Given the description of an element on the screen output the (x, y) to click on. 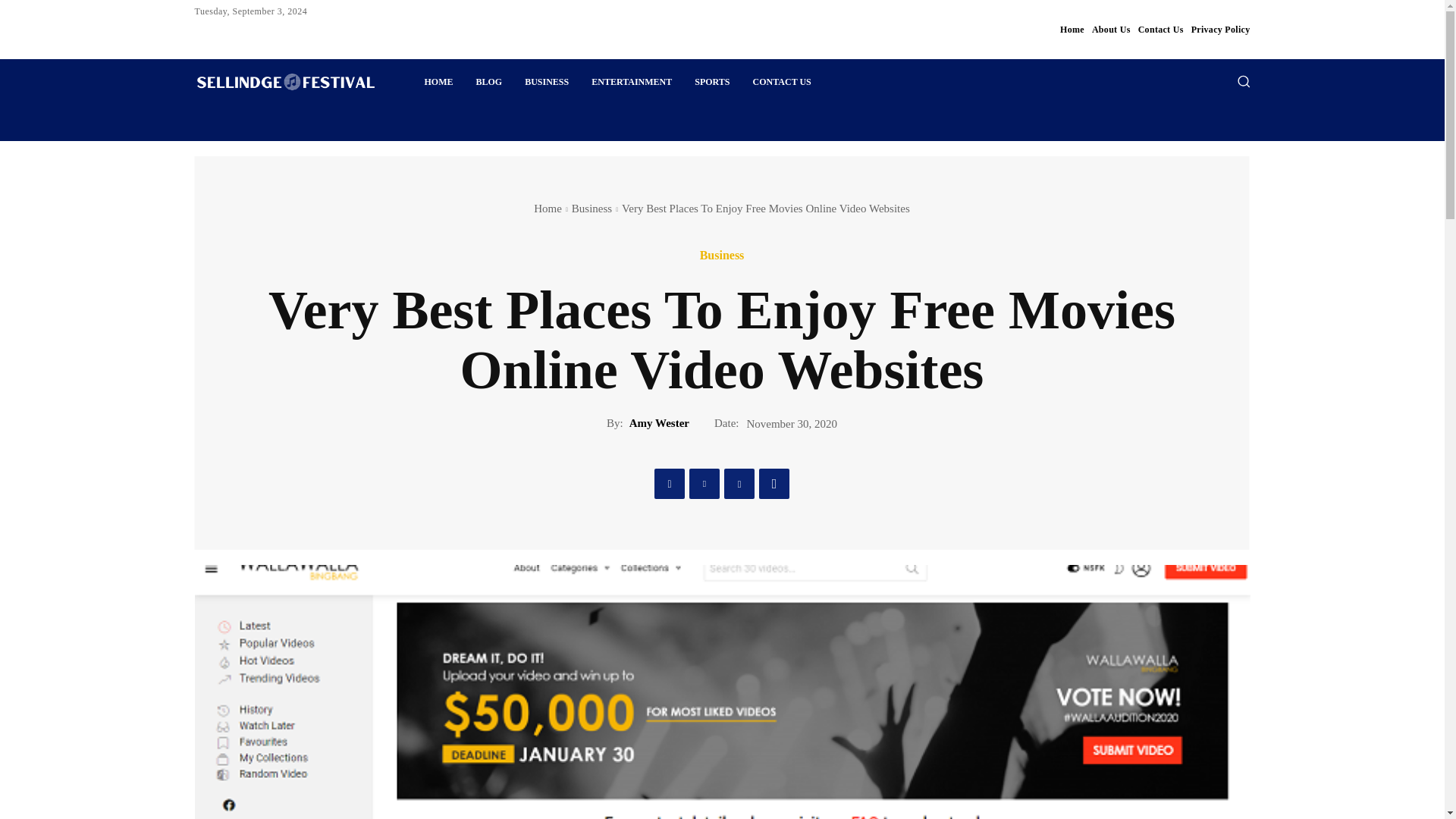
Amy Wester (658, 422)
HOME (438, 81)
SPORTS (711, 81)
About Us (1111, 29)
Home (1071, 29)
BLOG (488, 81)
Business (722, 255)
BUSINESS (546, 81)
View all posts in Business (591, 208)
Facebook (668, 483)
